Given the description of an element on the screen output the (x, y) to click on. 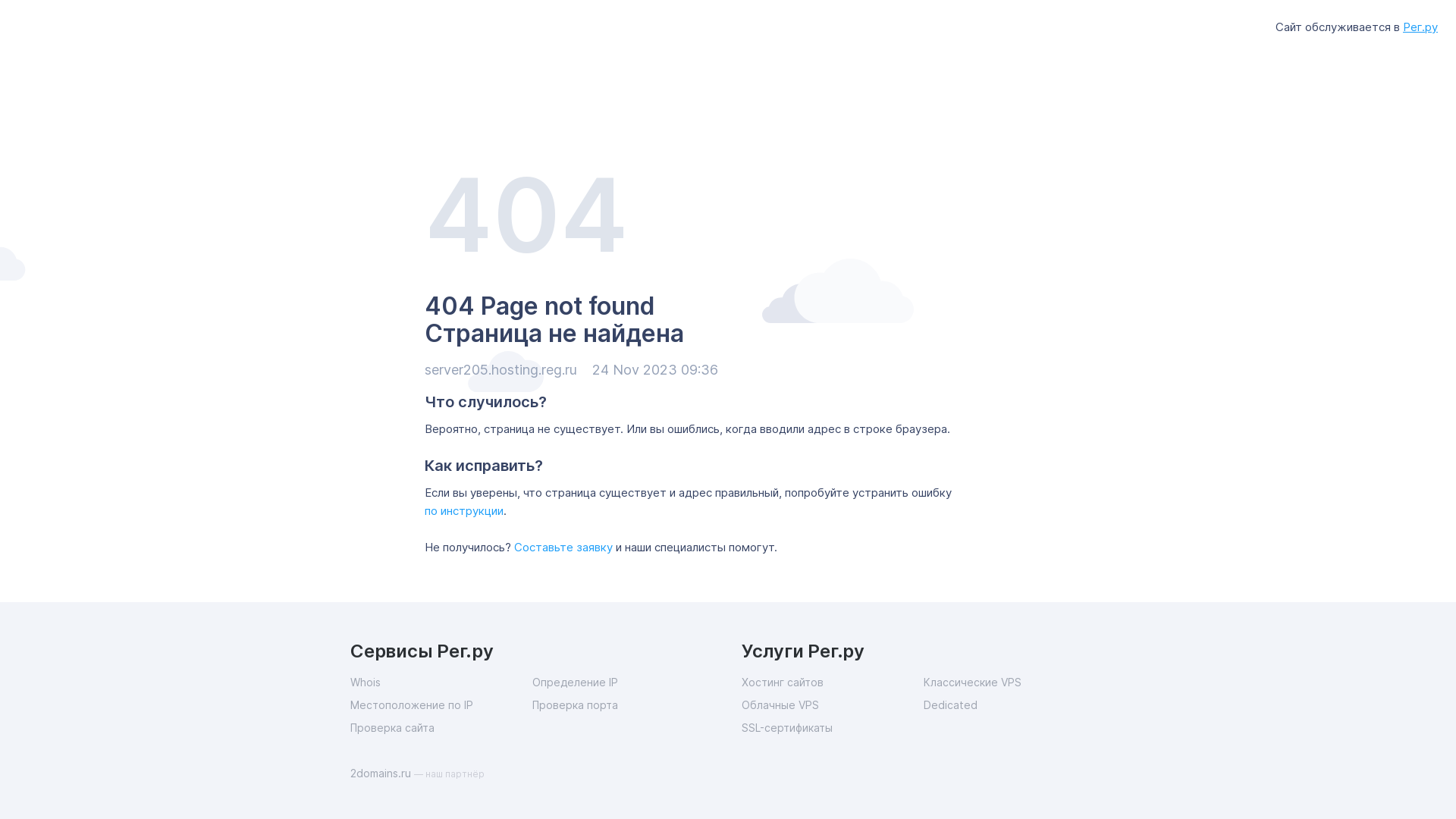
2domains.ru Element type: text (382, 772)
Dedicated Element type: text (1014, 705)
Whois Element type: text (441, 682)
